Given the description of an element on the screen output the (x, y) to click on. 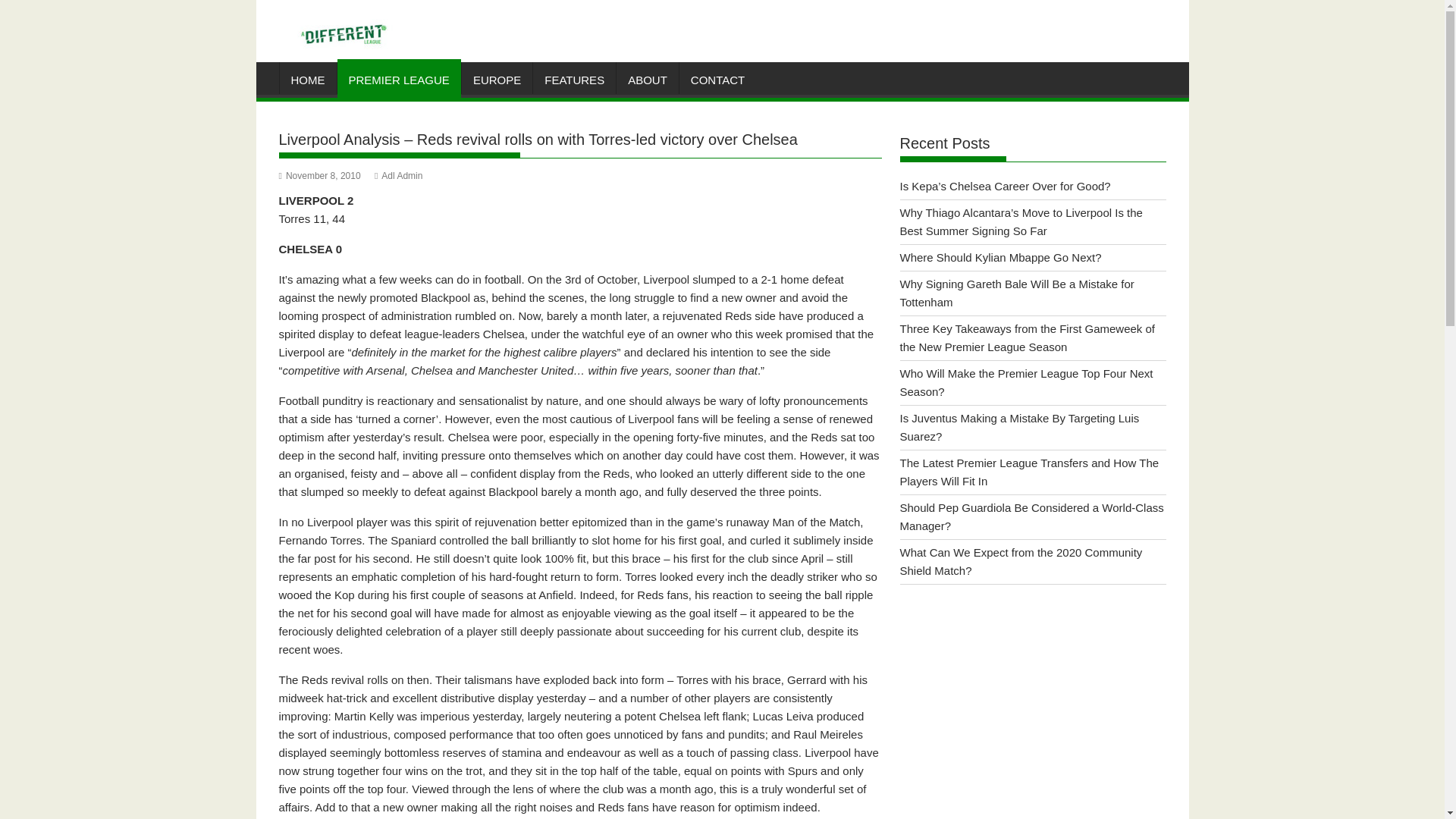
PREMIER LEAGUE (398, 80)
CONTACT (717, 80)
HOME (307, 80)
ABOUT (646, 80)
November 8, 2010 (320, 175)
FEATURES (573, 80)
EUROPE (496, 80)
Adl Admin (398, 175)
